Given the description of an element on the screen output the (x, y) to click on. 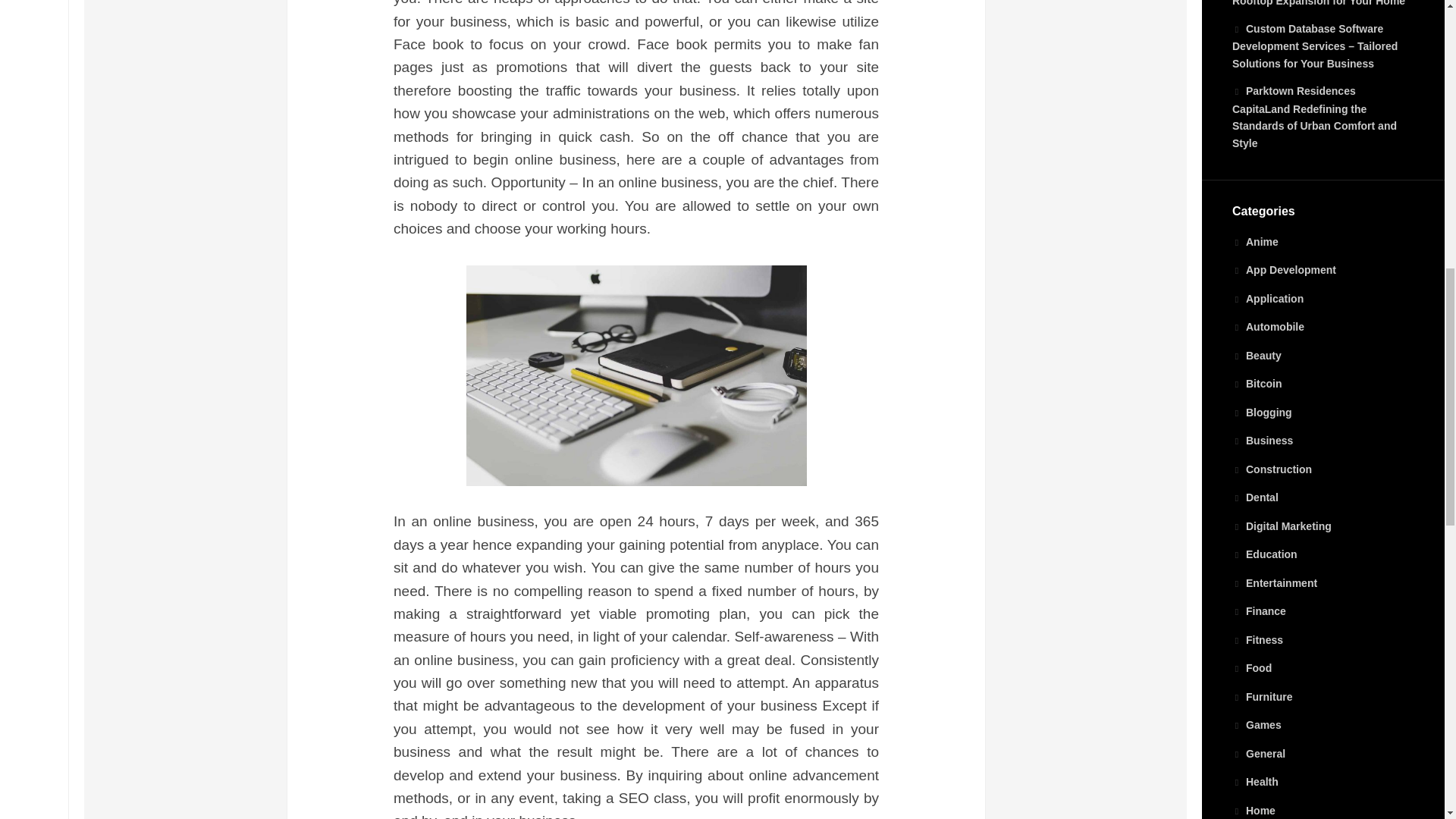
General (1258, 753)
Food (1251, 667)
Application (1267, 298)
Business (1261, 440)
Beauty (1256, 355)
Anime (1254, 241)
App Development (1283, 269)
Construction (1271, 469)
Home (1253, 810)
Fitness (1256, 639)
Entertainment (1274, 582)
Blogging (1261, 412)
Automobile (1267, 326)
Bitcoin (1256, 383)
